Given the description of an element on the screen output the (x, y) to click on. 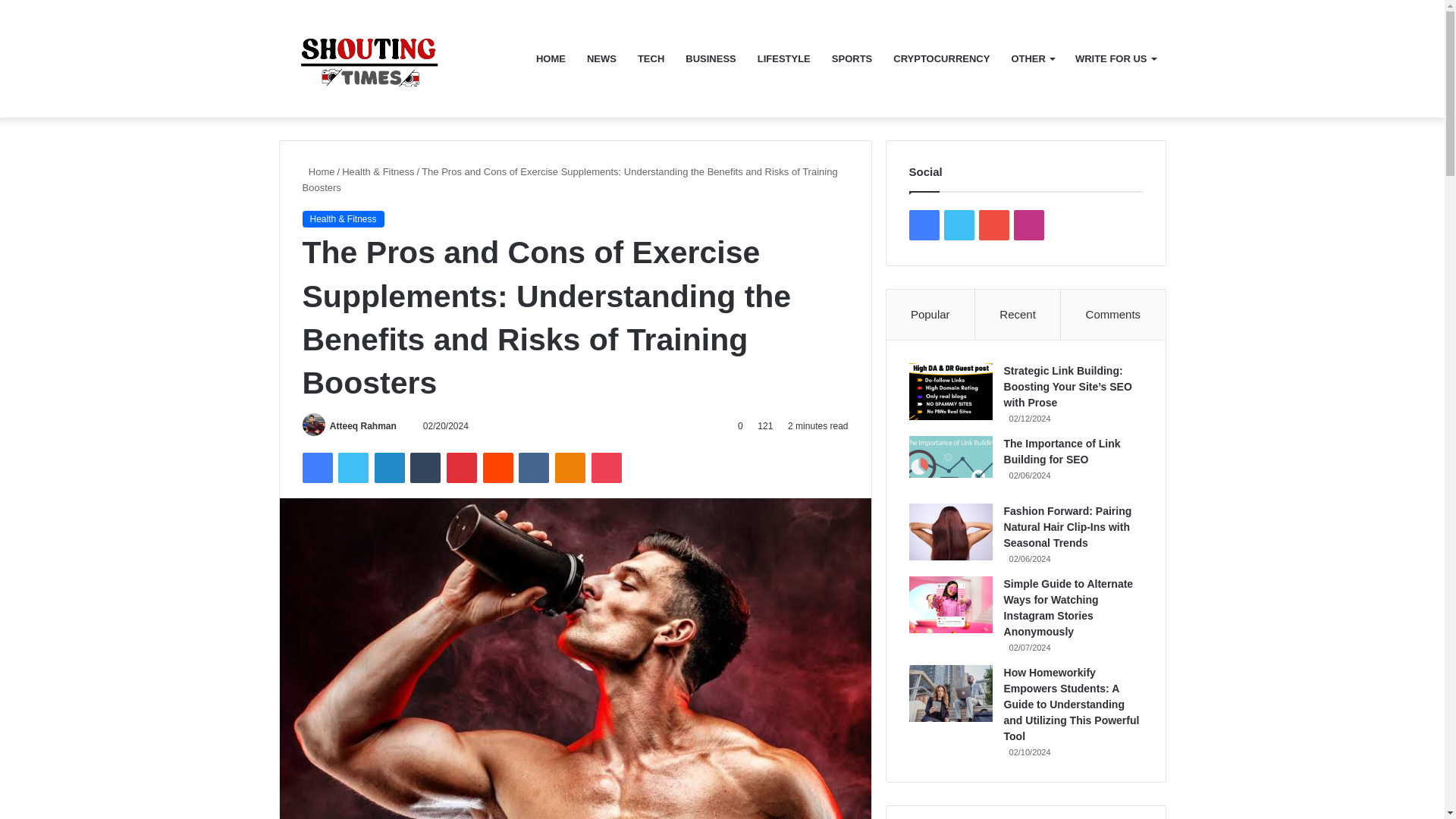
shoutingtimes.com (392, 58)
Odnoklassniki (569, 467)
Home (317, 171)
Reddit (498, 467)
Pinterest (461, 467)
LinkedIn (389, 467)
Tumblr (425, 467)
Pocket (606, 467)
Pinterest (461, 467)
Atteeq Rahman (363, 425)
